Given the description of an element on the screen output the (x, y) to click on. 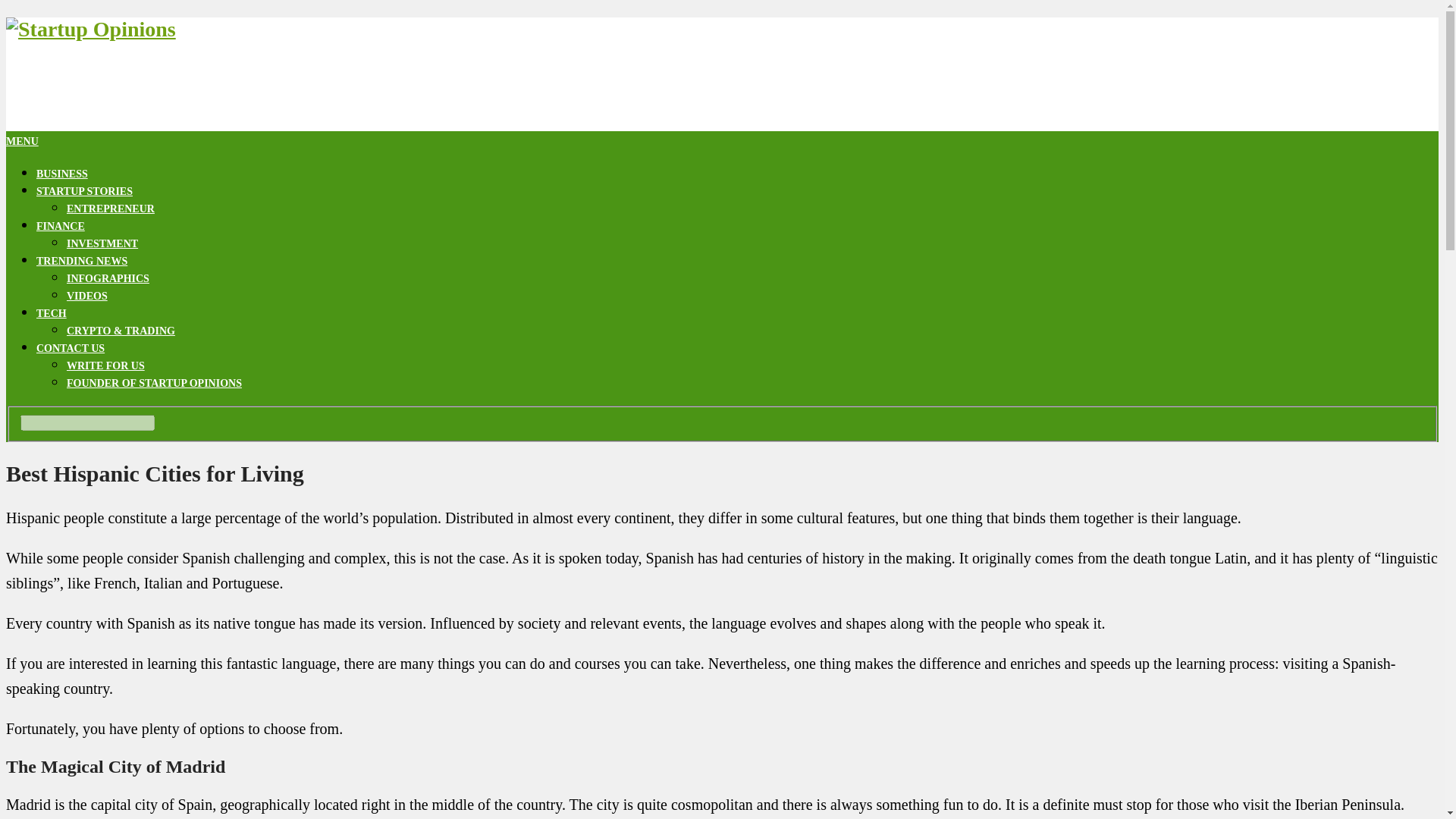
MENU (22, 141)
CONTACT US (70, 348)
VIDEOS (86, 296)
BUSINESS (61, 173)
WRITE FOR US (105, 365)
INVESTMENT (102, 243)
TECH (51, 313)
ENTREPRENEUR (110, 208)
STARTUP STORIES (84, 191)
FOUNDER OF STARTUP OPINIONS (153, 383)
INFOGRAPHICS (107, 278)
TRENDING NEWS (82, 260)
FINANCE (60, 225)
